Given the description of an element on the screen output the (x, y) to click on. 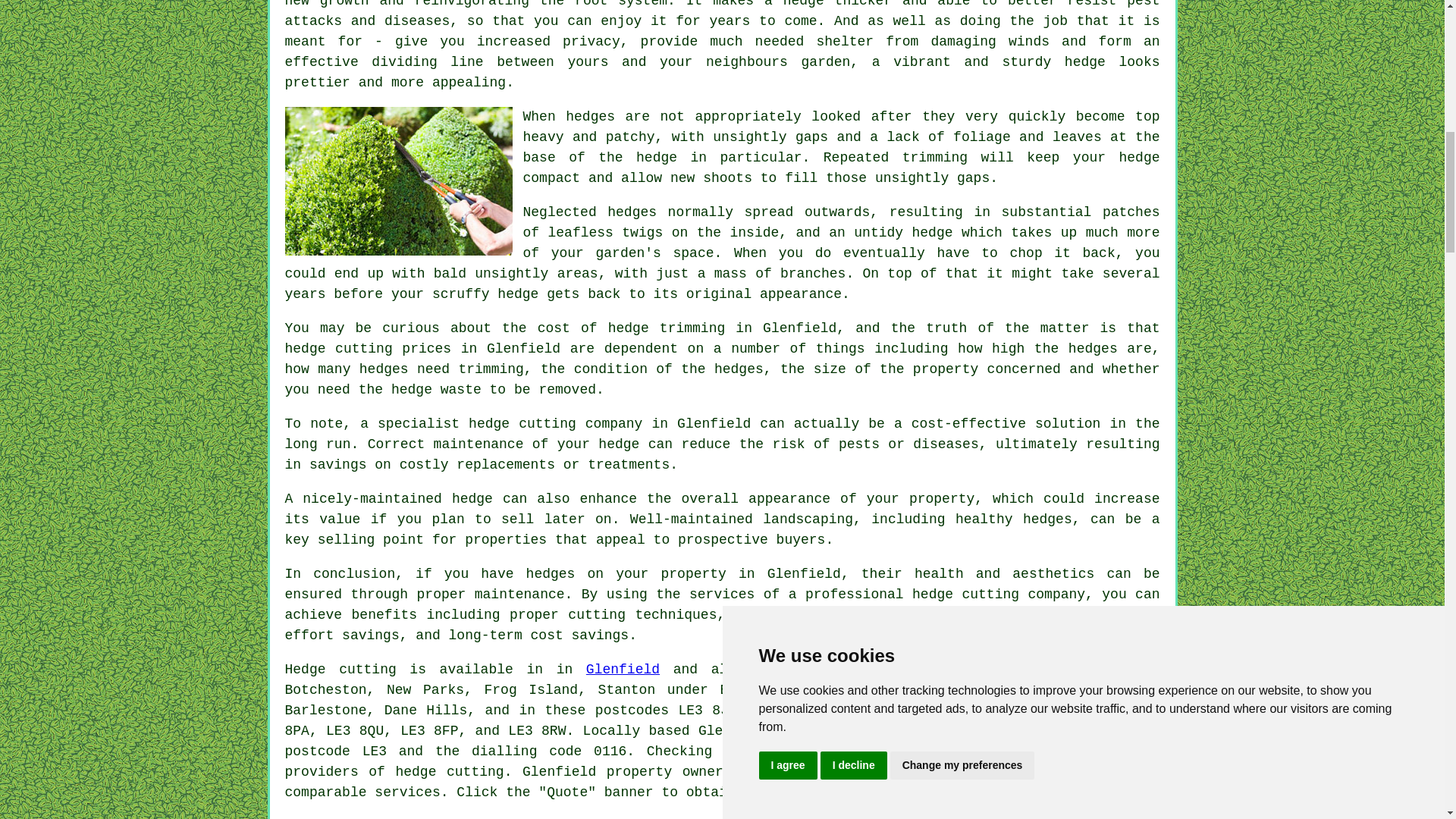
hedge waste (436, 389)
services (406, 792)
Hedge (305, 669)
hedge trimming company (998, 594)
